Given the description of an element on the screen output the (x, y) to click on. 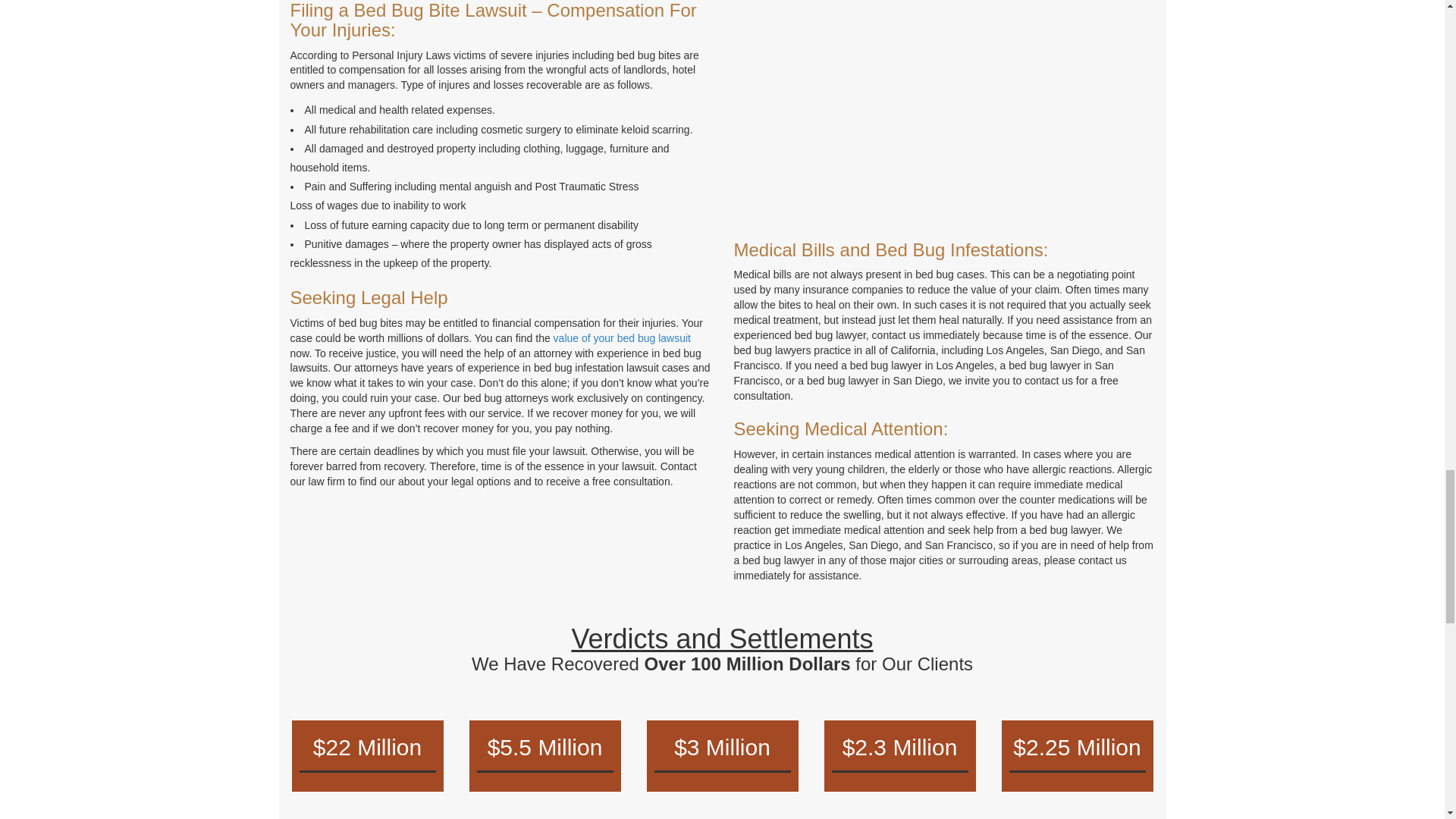
value of your bed bug lawsuit (621, 337)
